Given the description of an element on the screen output the (x, y) to click on. 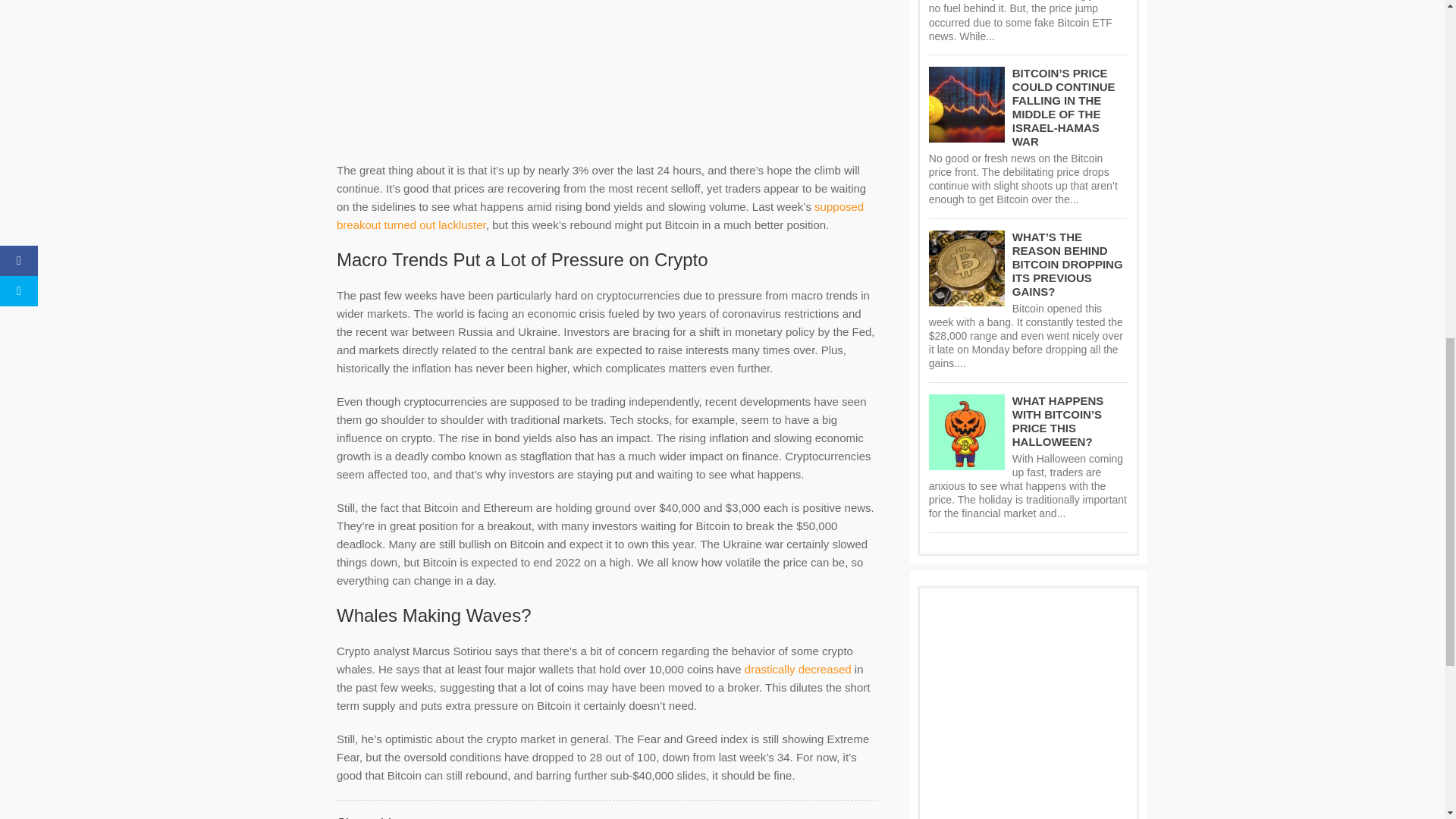
supposed breakout turned out lackluster (599, 214)
drastically decreased (797, 668)
Advertisement (606, 73)
